Given the description of an element on the screen output the (x, y) to click on. 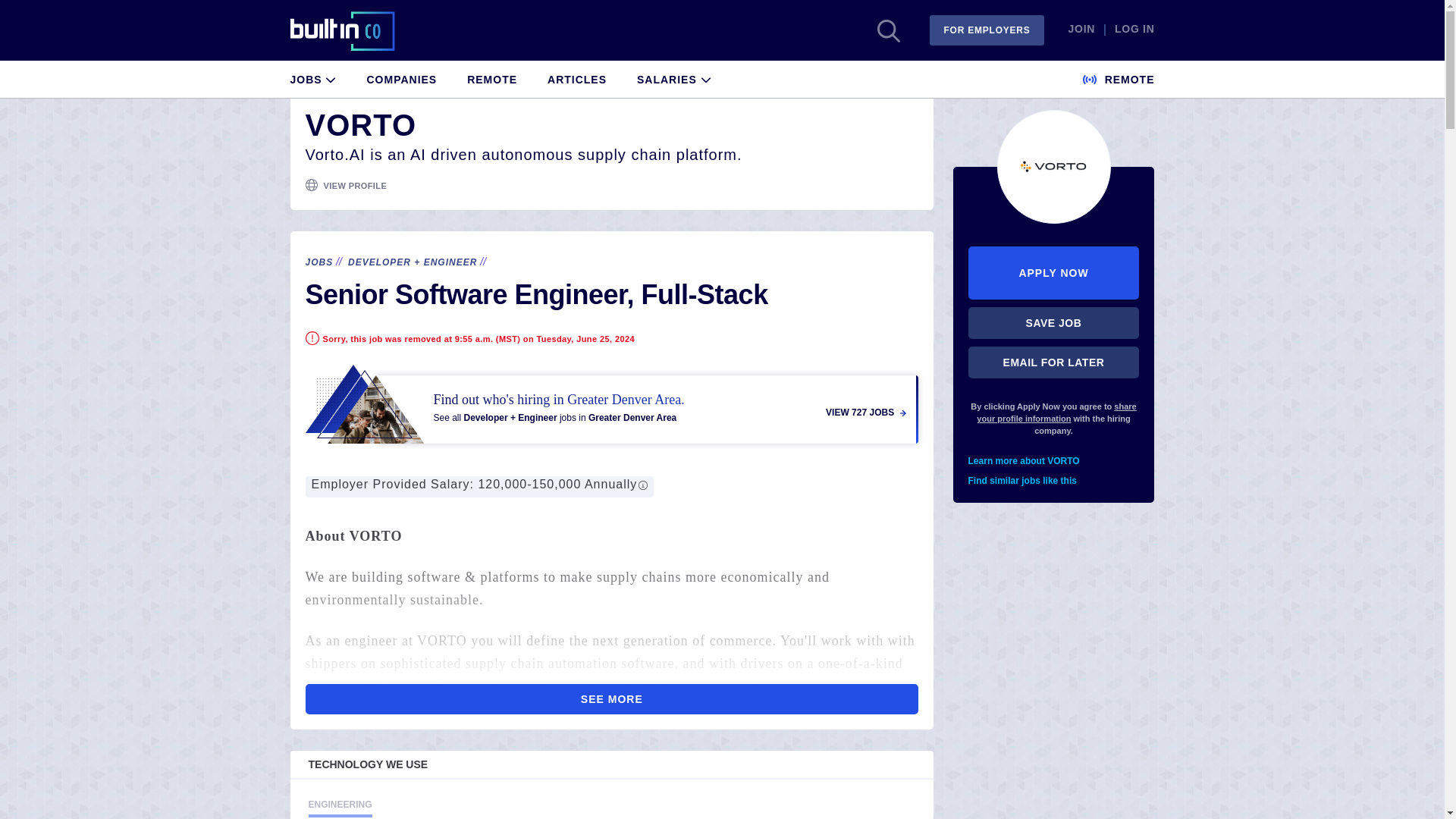
JOBS (318, 262)
REMOTE (491, 77)
REMOTE (1118, 77)
ENGINEERING (339, 807)
VIEW 727 JOBS (865, 412)
SALARIES (674, 77)
JOBS (312, 77)
View 727 Jobs (611, 403)
VIEW PROFILE (355, 185)
FOR EMPLOYERS (986, 30)
LOG IN (1134, 29)
Built In Colorado (341, 30)
ARTICLES (577, 77)
JOIN (1081, 29)
